Given the description of an element on the screen output the (x, y) to click on. 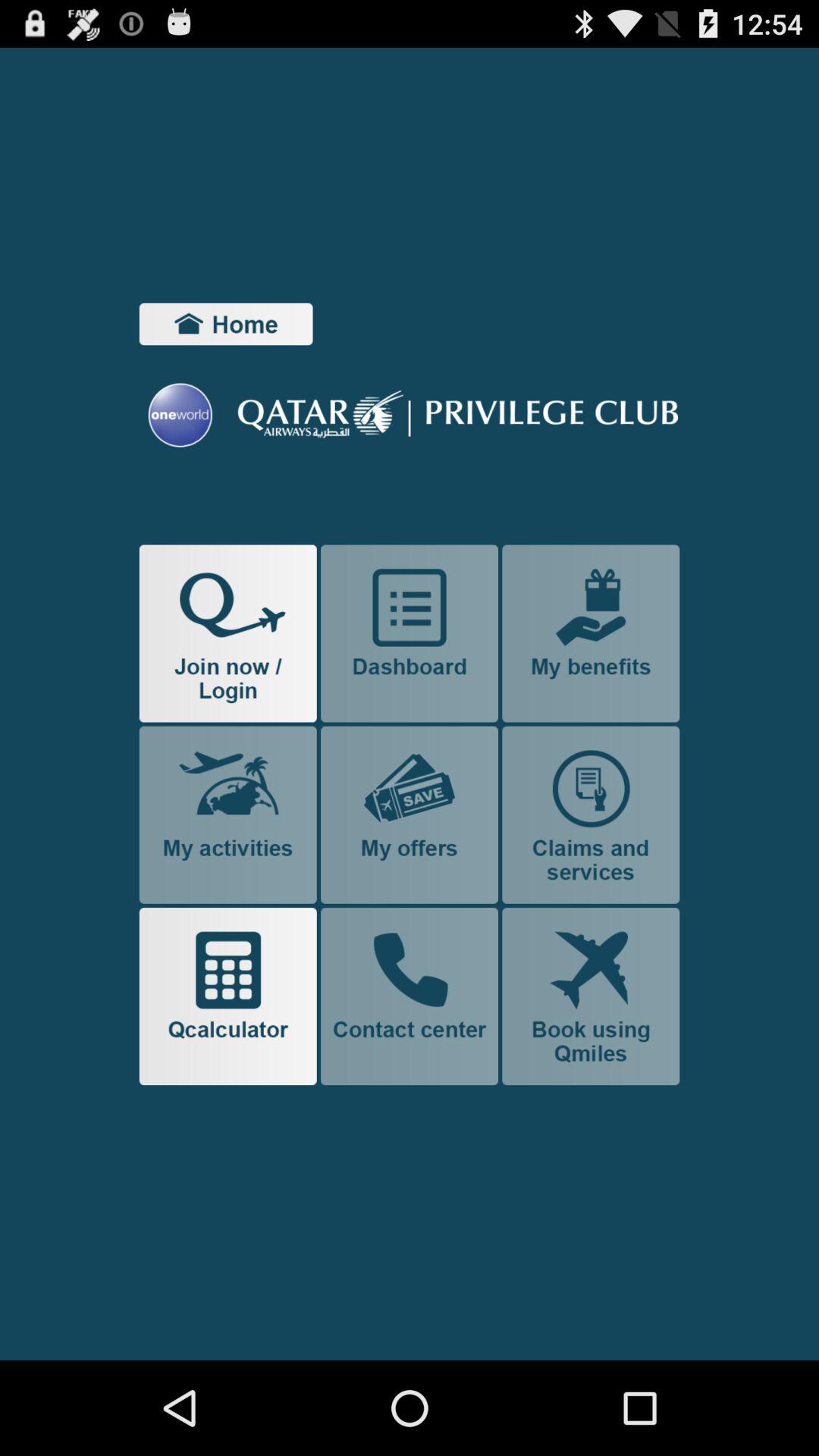
open icon at the bottom left corner (227, 996)
